Given the description of an element on the screen output the (x, y) to click on. 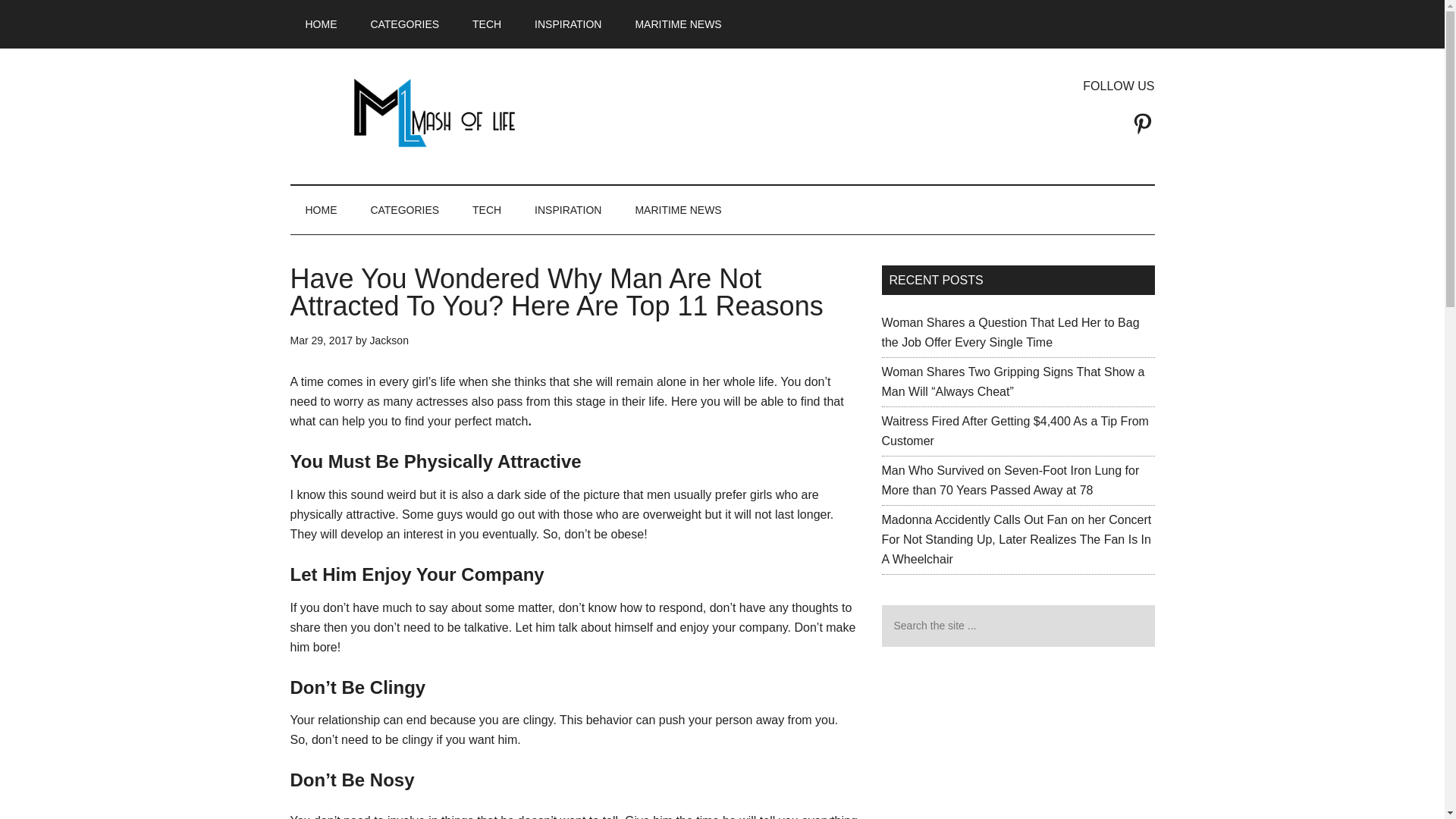
CATEGORIES (404, 209)
HOME (320, 24)
HOME (320, 209)
CATEGORIES (404, 24)
TECH (486, 24)
GET AN ULTIMATE LIVING EXPERIANCE (433, 112)
INSPIRATION (567, 24)
